Given the description of an element on the screen output the (x, y) to click on. 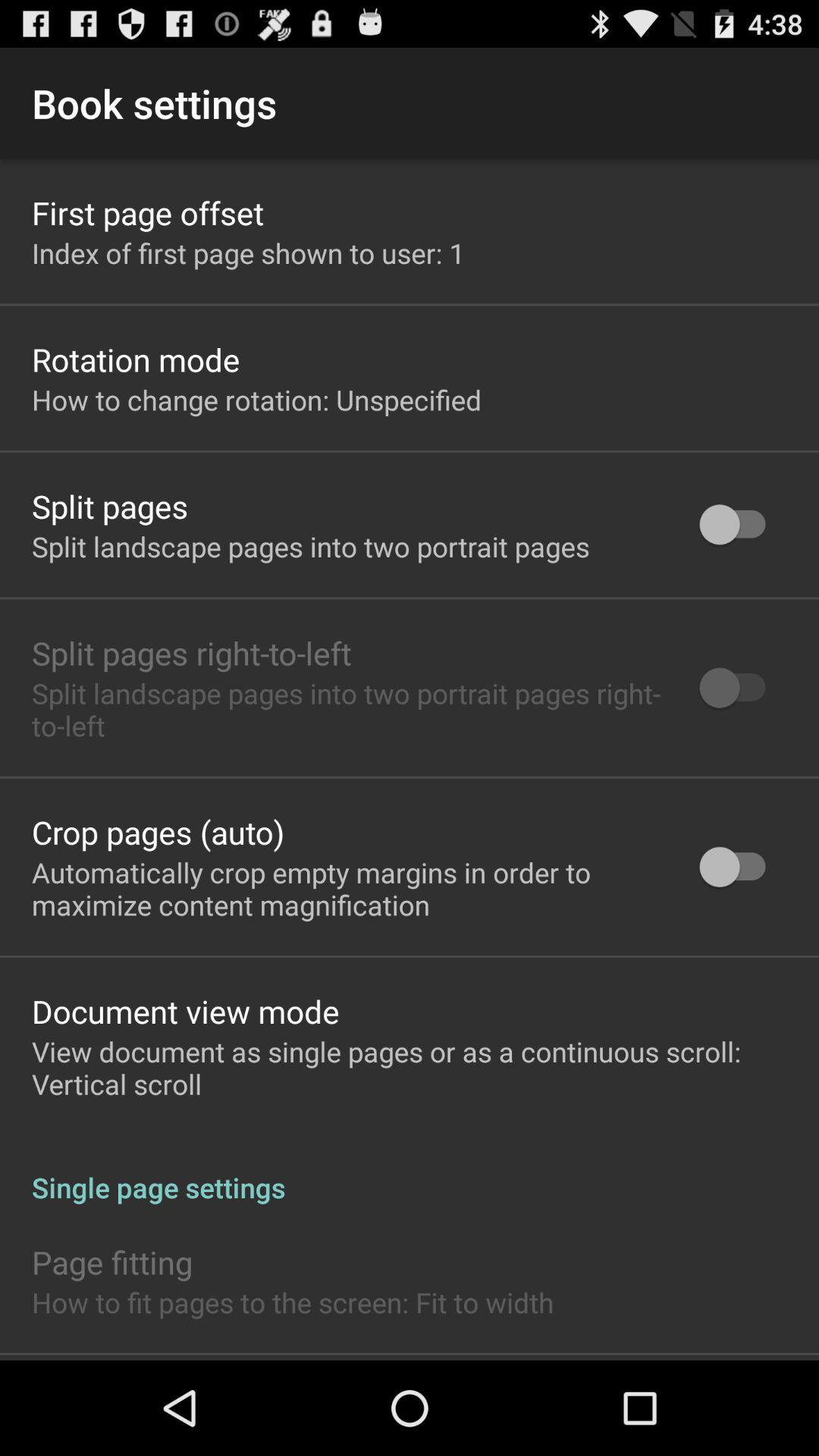
tap the app below the index of first item (135, 359)
